Given the description of an element on the screen output the (x, y) to click on. 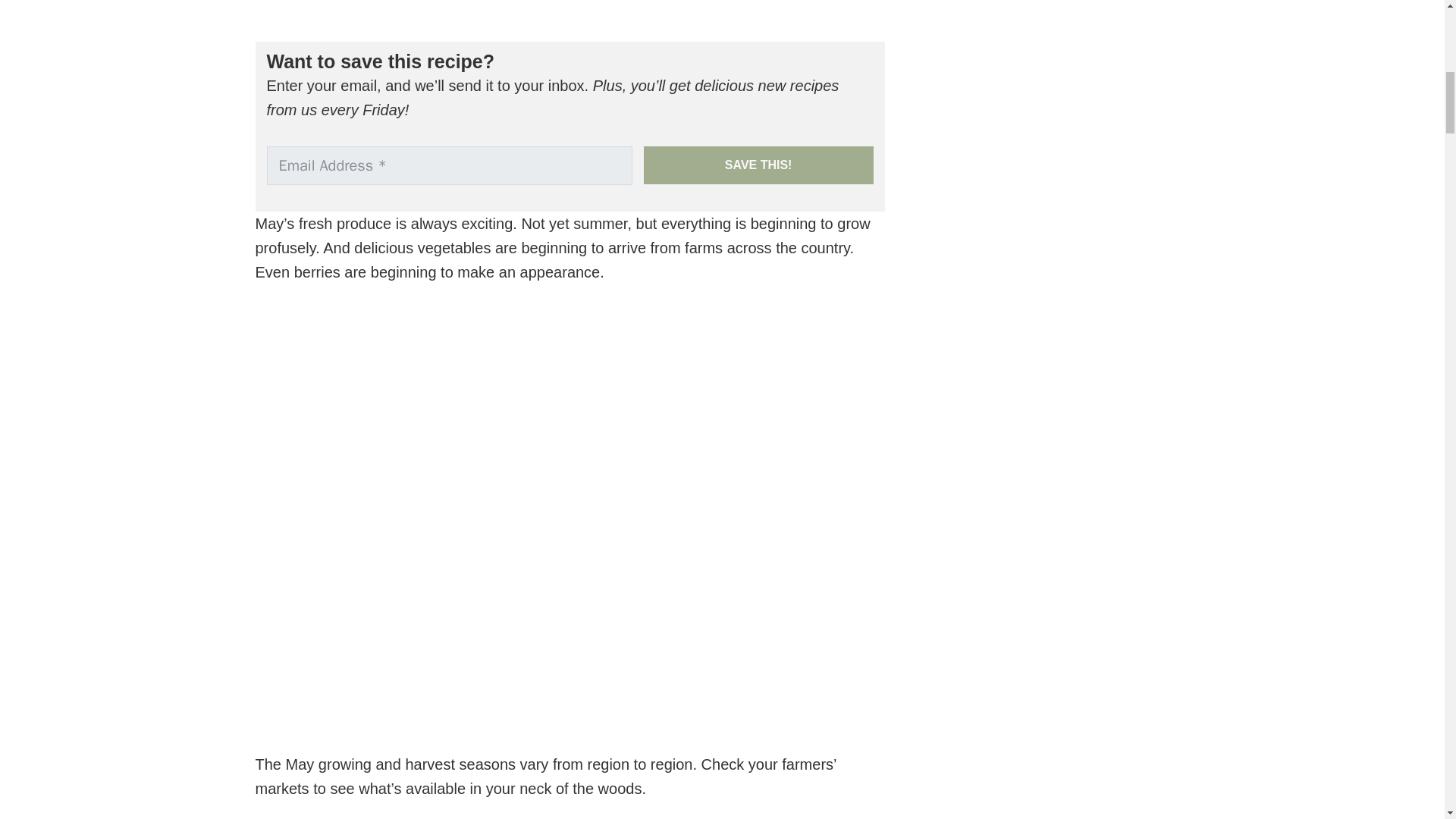
SAVE THIS! (758, 165)
